Given the description of an element on the screen output the (x, y) to click on. 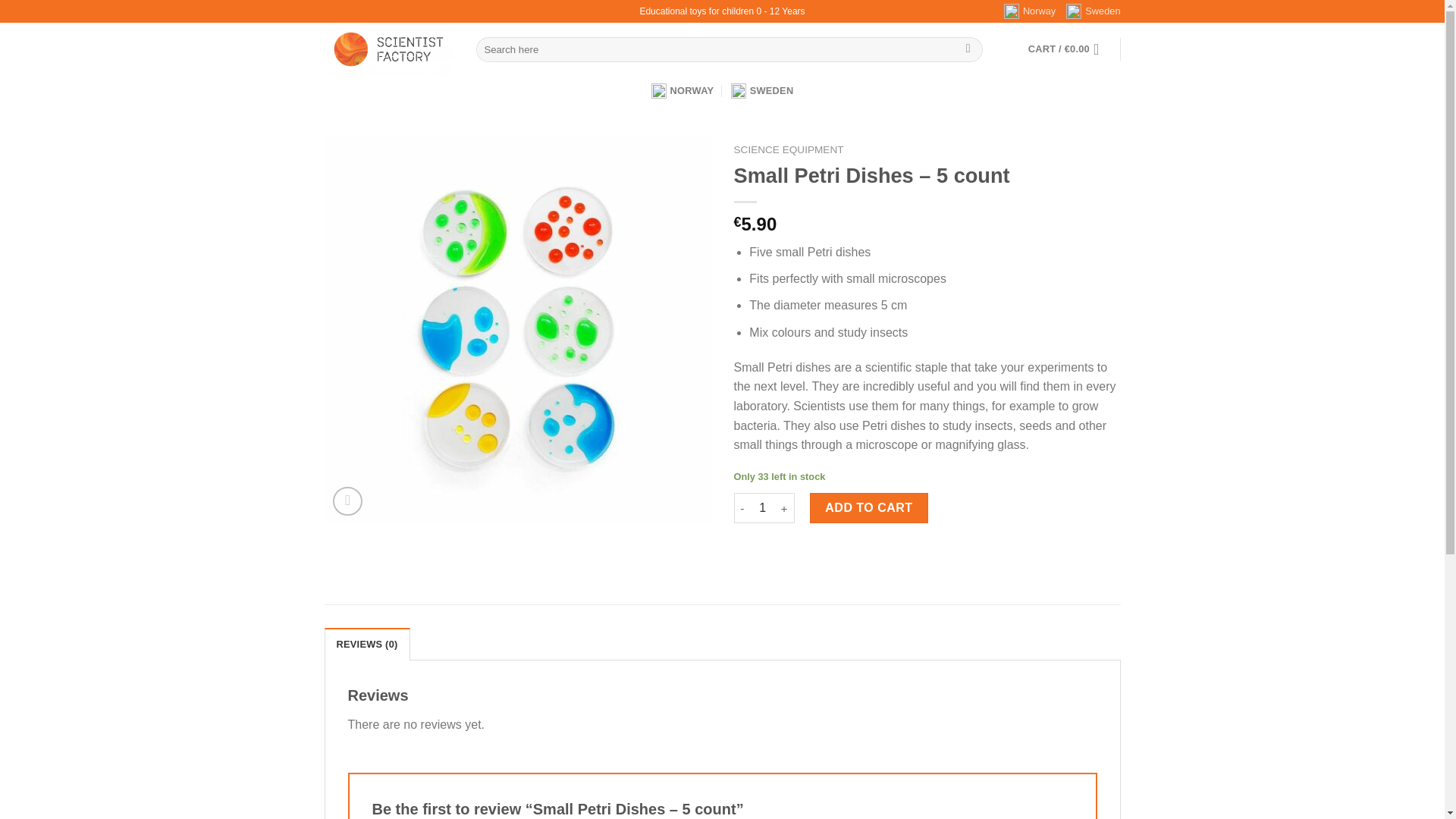
Search (967, 49)
SWEDEN (761, 91)
Sweden (1092, 11)
Cart (1067, 49)
SCIENCE EQUIPMENT (788, 149)
Scientist Factory - Explore together! (388, 49)
Norway (1029, 11)
Zoom (347, 501)
ADD TO CART (868, 508)
NORWAY (682, 91)
